Given the description of an element on the screen output the (x, y) to click on. 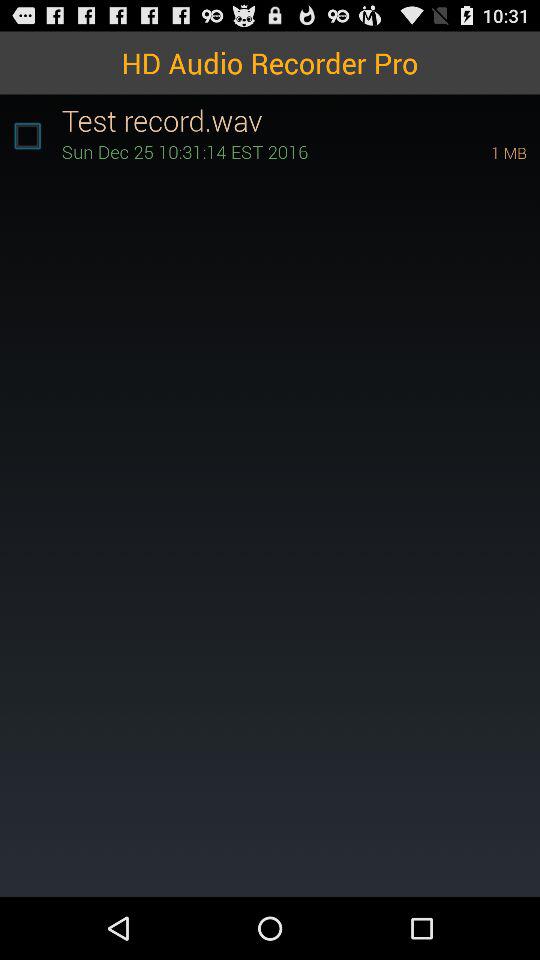
turn off icon at the top right corner (481, 152)
